Given the description of an element on the screen output the (x, y) to click on. 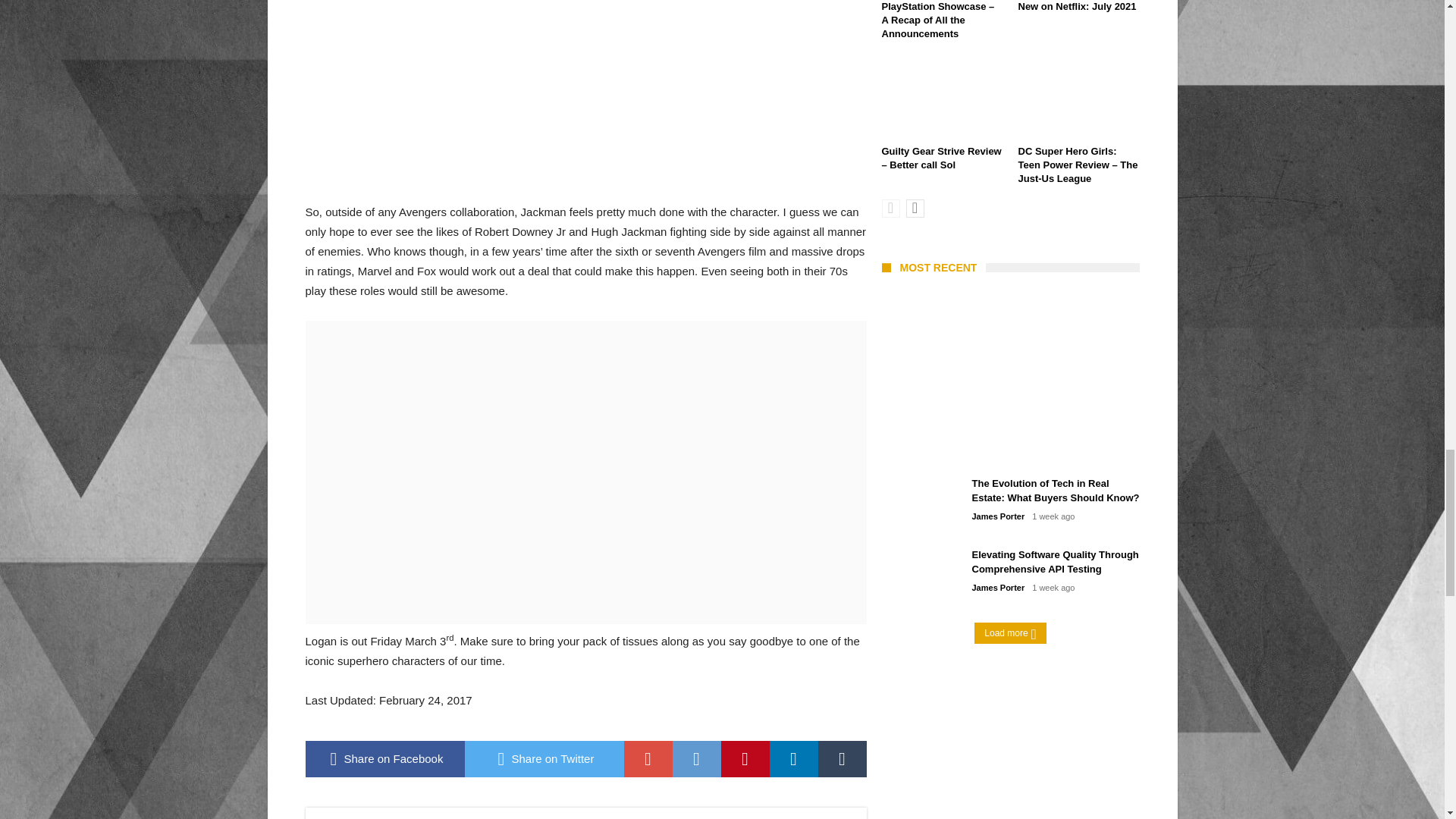
Share on Facebook (384, 759)
Share on Reddit (695, 759)
Share on Twitter (543, 759)
